Given the description of an element on the screen output the (x, y) to click on. 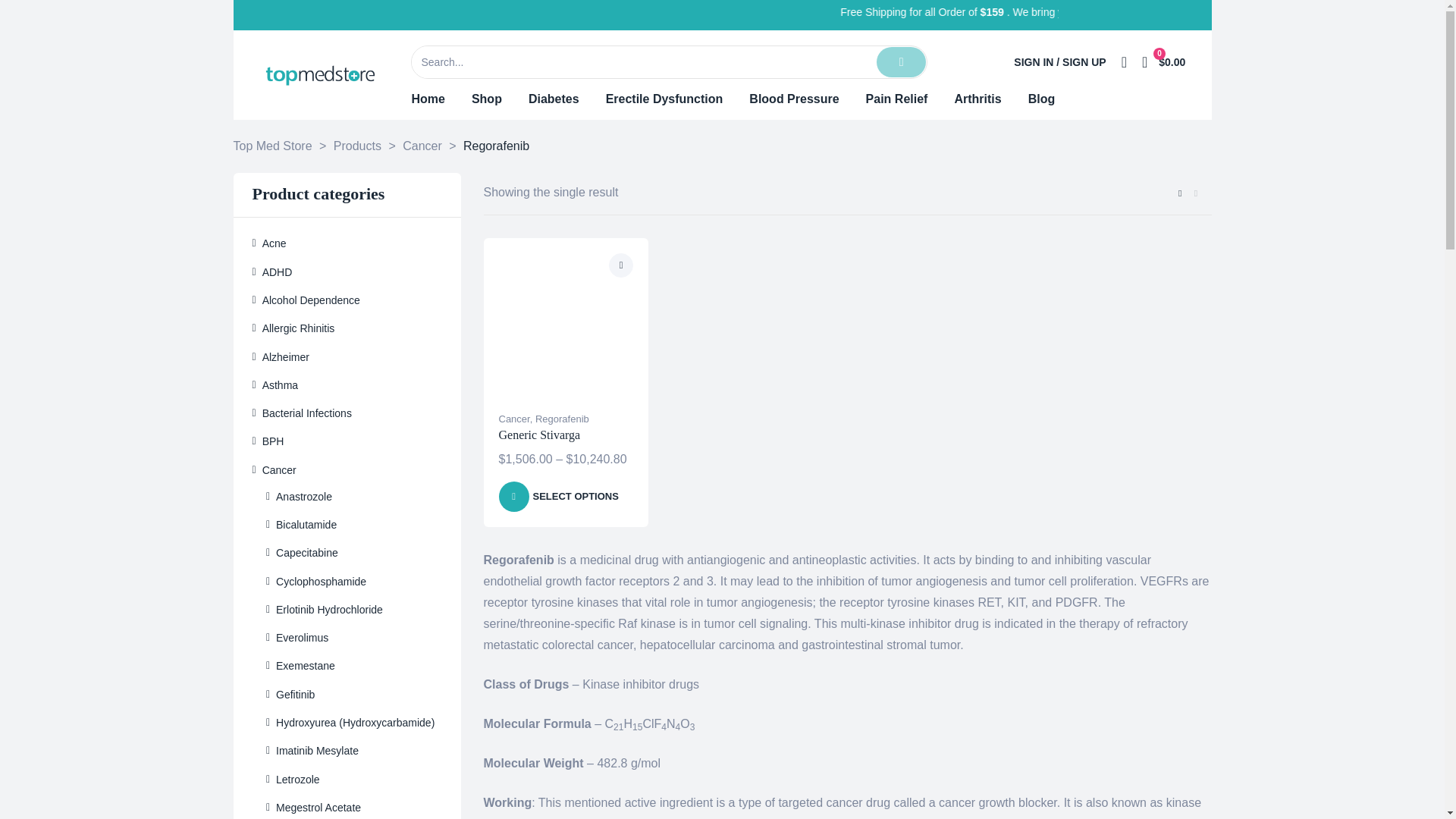
Go to Top Med Store. (272, 145)
Go to the Cancer Category archives. (422, 145)
Search (643, 61)
Go to Products. (357, 145)
